Given the description of an element on the screen output the (x, y) to click on. 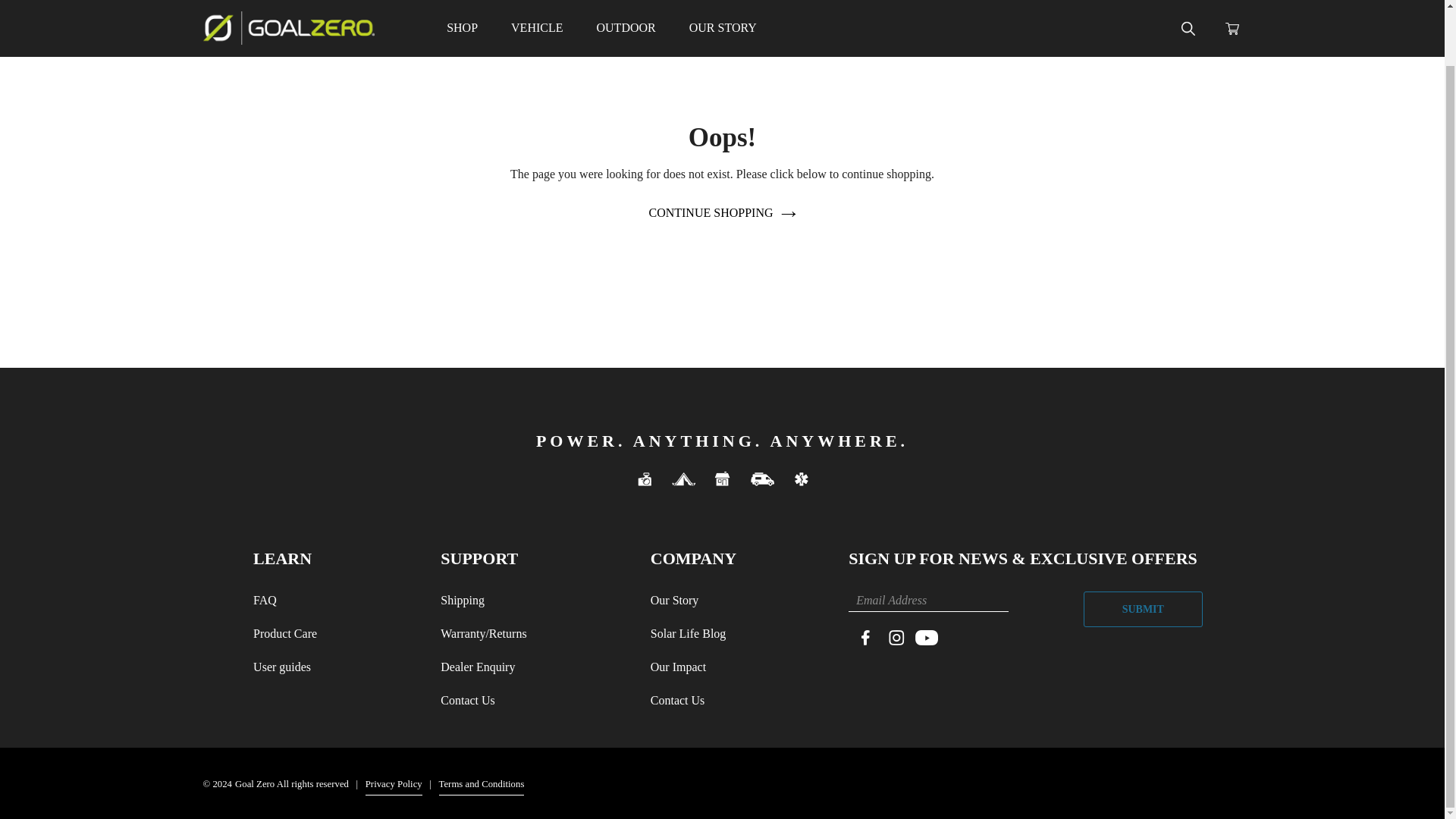
GOAL ZERO AUSTRALIA (289, 7)
Goal Zero Australia on Facebook (865, 636)
Goal Zero Australia on Instagram (896, 636)
VEHICLE (537, 7)
Goal Zero Australia on YouTube (461, 7)
